Given the description of an element on the screen output the (x, y) to click on. 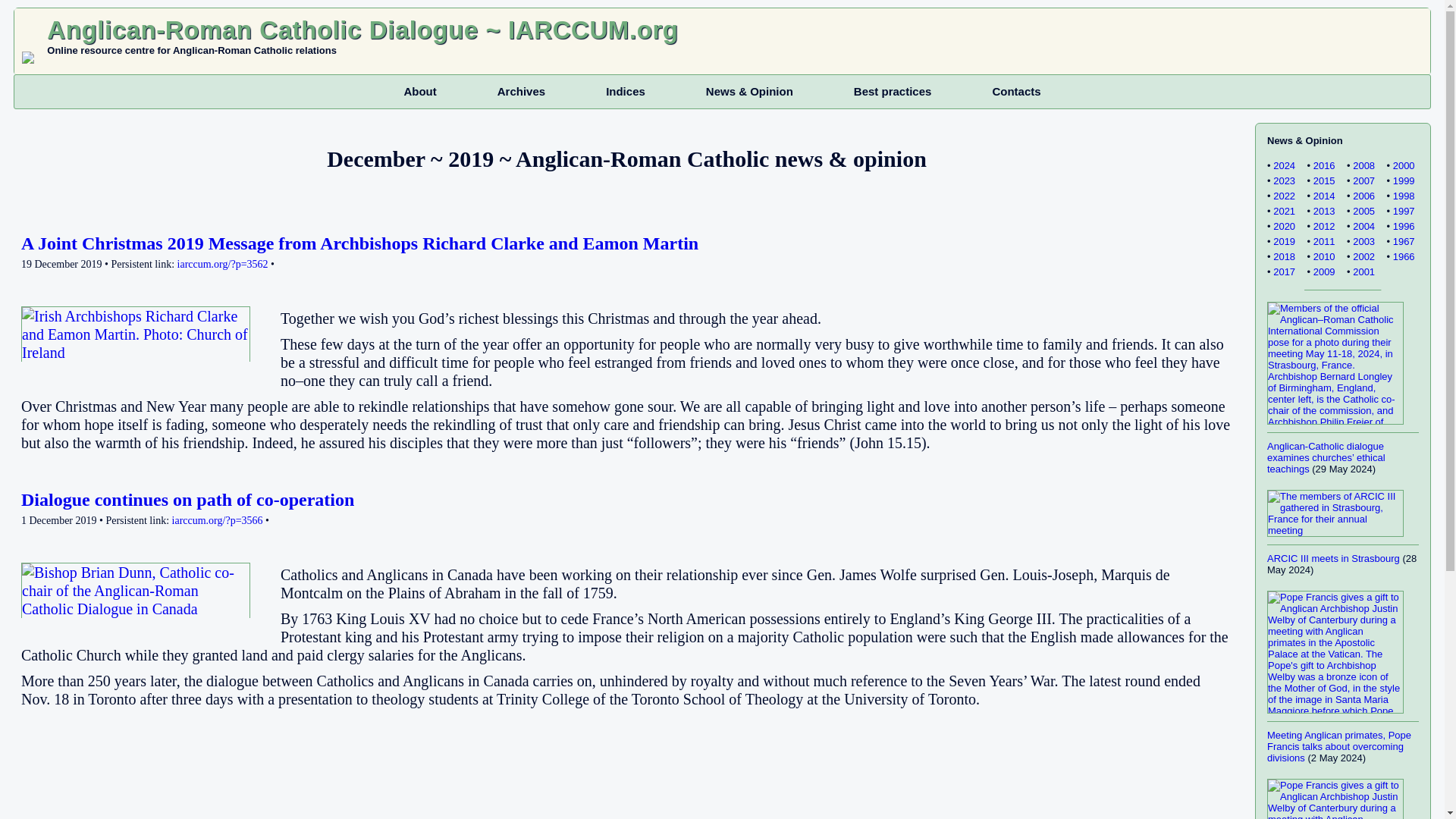
ARCIC III meets in Strasbourg (1332, 558)
Dialogue continues on path of co-operation (187, 499)
Contact the IARCCUM.org editor (1399, 60)
Facebook (28, 286)
WhatsApp (123, 286)
Email (104, 286)
Pocket (85, 286)
X (66, 286)
